Given the description of an element on the screen output the (x, y) to click on. 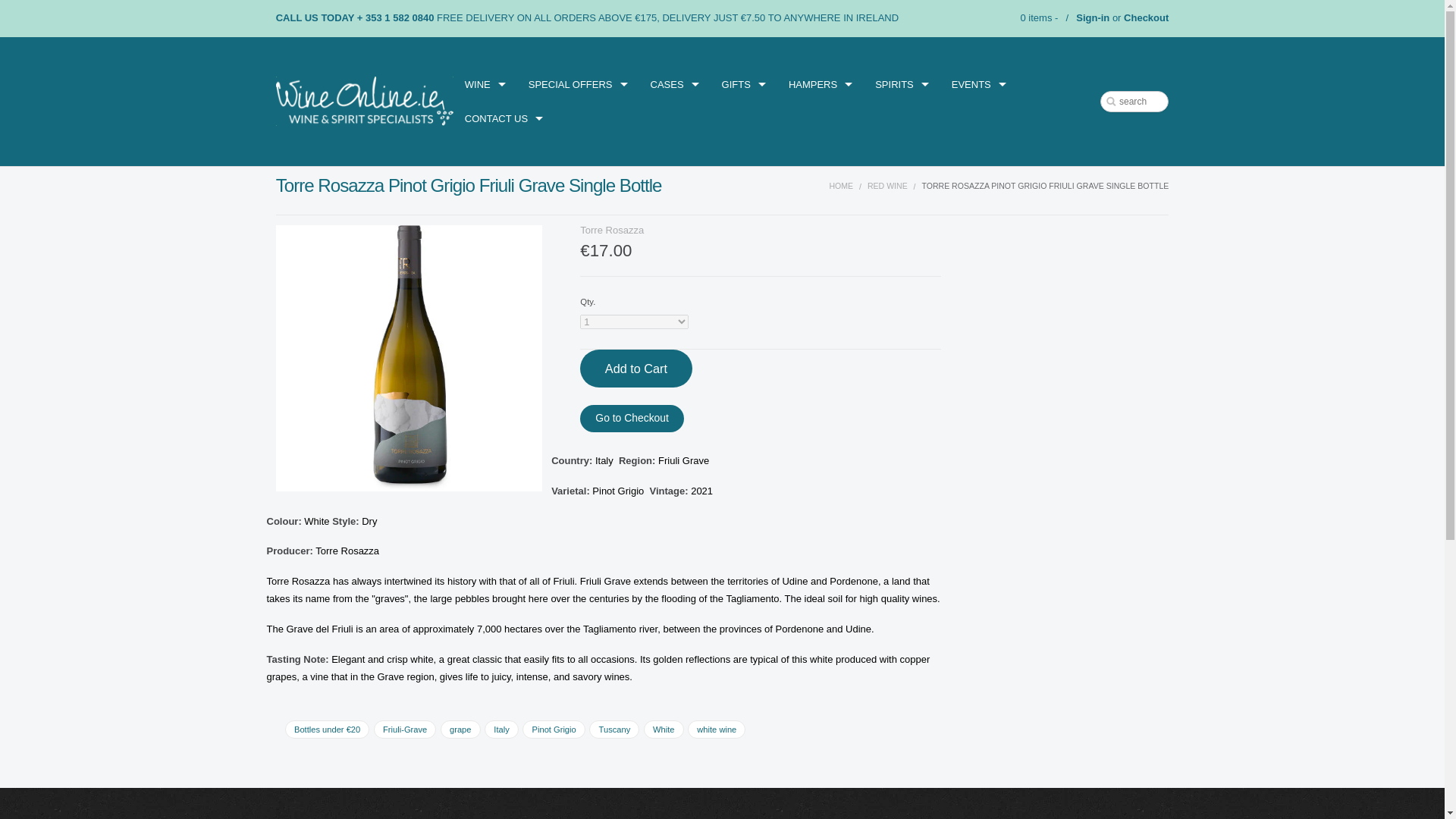
Checkout (1146, 17)
WINE (484, 84)
0 items - (1037, 17)
Torre Rosazza (611, 229)
Torre Rosazza Pinot Grigio Friuli Grave Single Bottle (408, 357)
Red Wine (887, 185)
WineOnline (364, 101)
Sign-in (1092, 17)
